Given the description of an element on the screen output the (x, y) to click on. 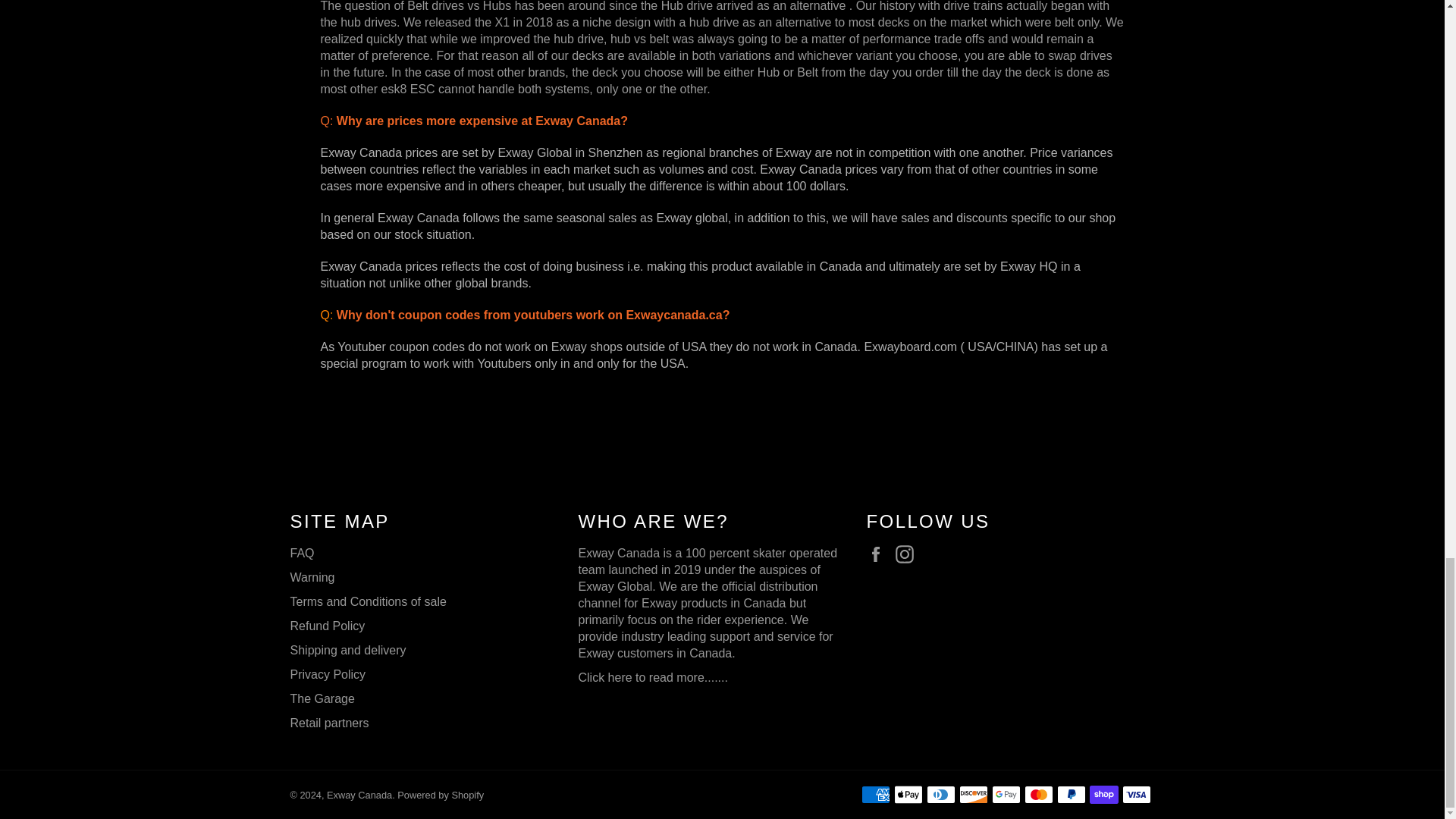
The Story of Exway Canada (652, 676)
Exway Canada on Instagram (908, 554)
Exway Canada on Facebook (878, 554)
